Given the description of an element on the screen output the (x, y) to click on. 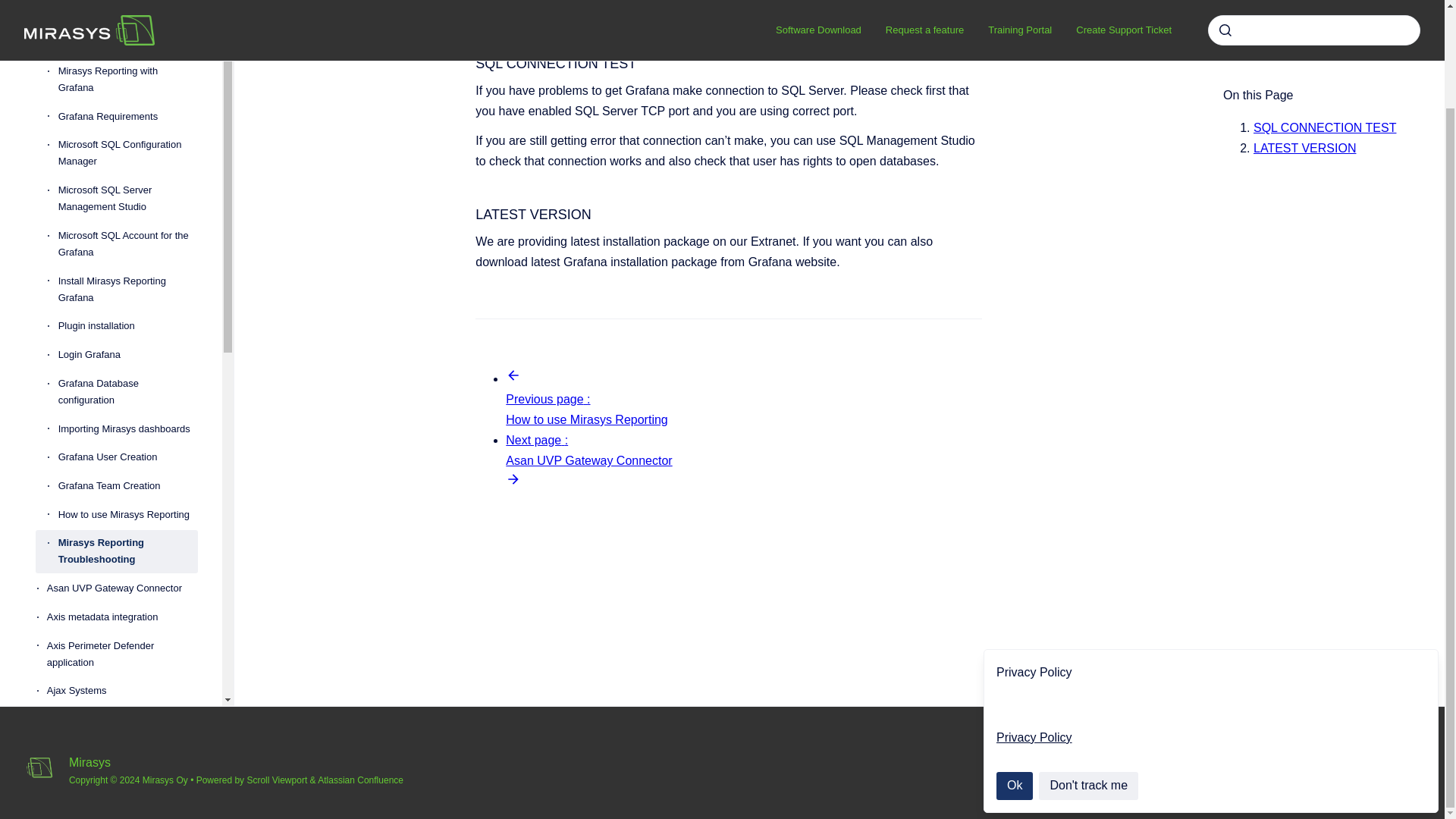
Install Mirasys Reporting Grafana (128, 289)
Dahua Proxy (122, 748)
Asan UVP Gateway Connector (122, 587)
Hikvision Proxy (122, 777)
Bosch Proxy (122, 719)
Privacy Policy (1033, 623)
Microsoft SQL Configuration Manager (128, 153)
Microsoft SQL Account for the Grafana (128, 243)
How to use Mirasys Reporting (128, 514)
Grafana Requirements (128, 116)
Login Grafana (128, 354)
Axis Perimeter Defender application (122, 654)
Don't track me (1088, 672)
HTTPS encryption (122, 13)
Grafana Team Creation (128, 485)
